Given the description of an element on the screen output the (x, y) to click on. 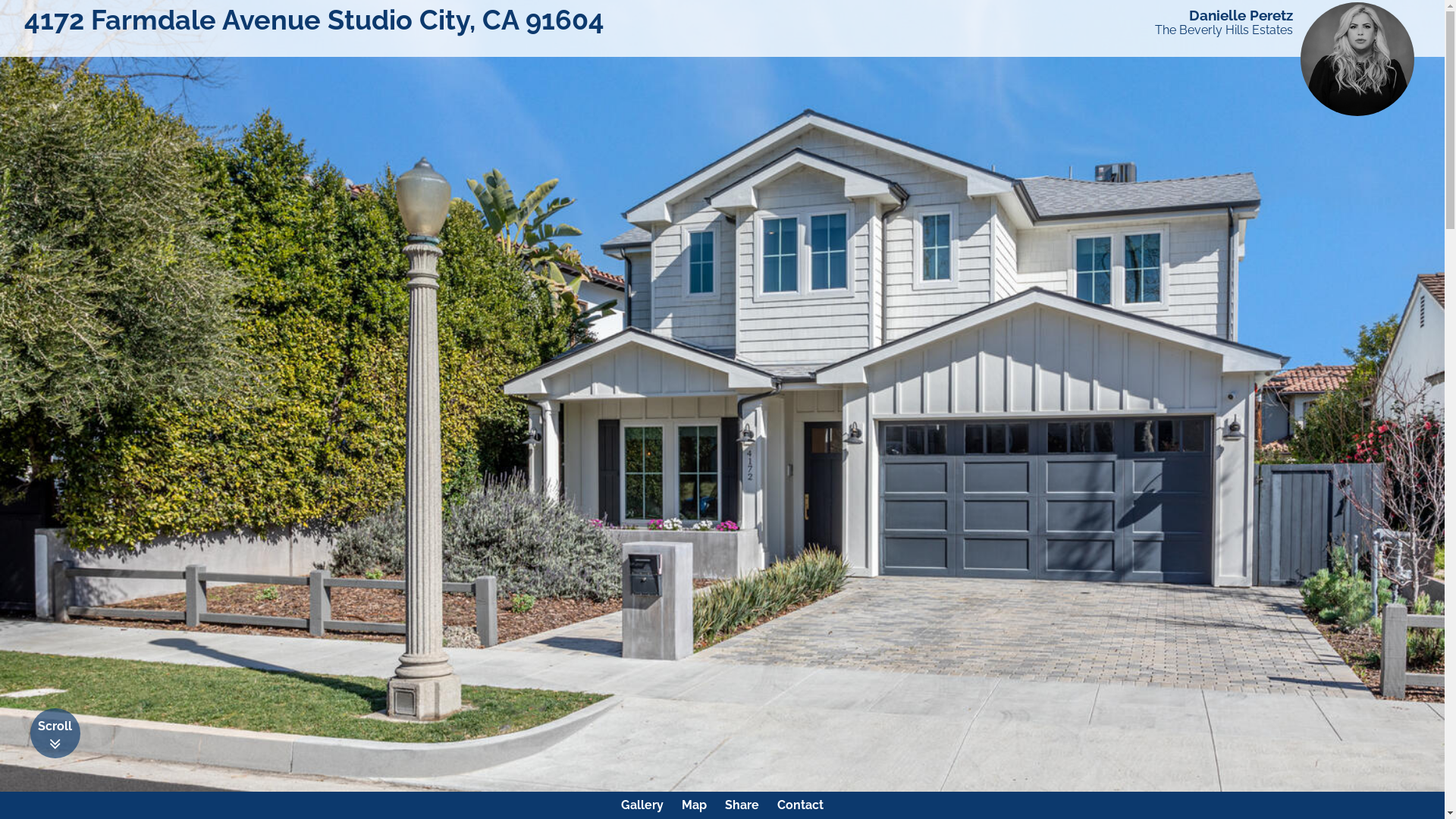
Share Element type: text (741, 805)
Map Element type: text (693, 805)
Contact Element type: text (800, 805)
Gallery Element type: text (642, 805)
